Given the description of an element on the screen output the (x, y) to click on. 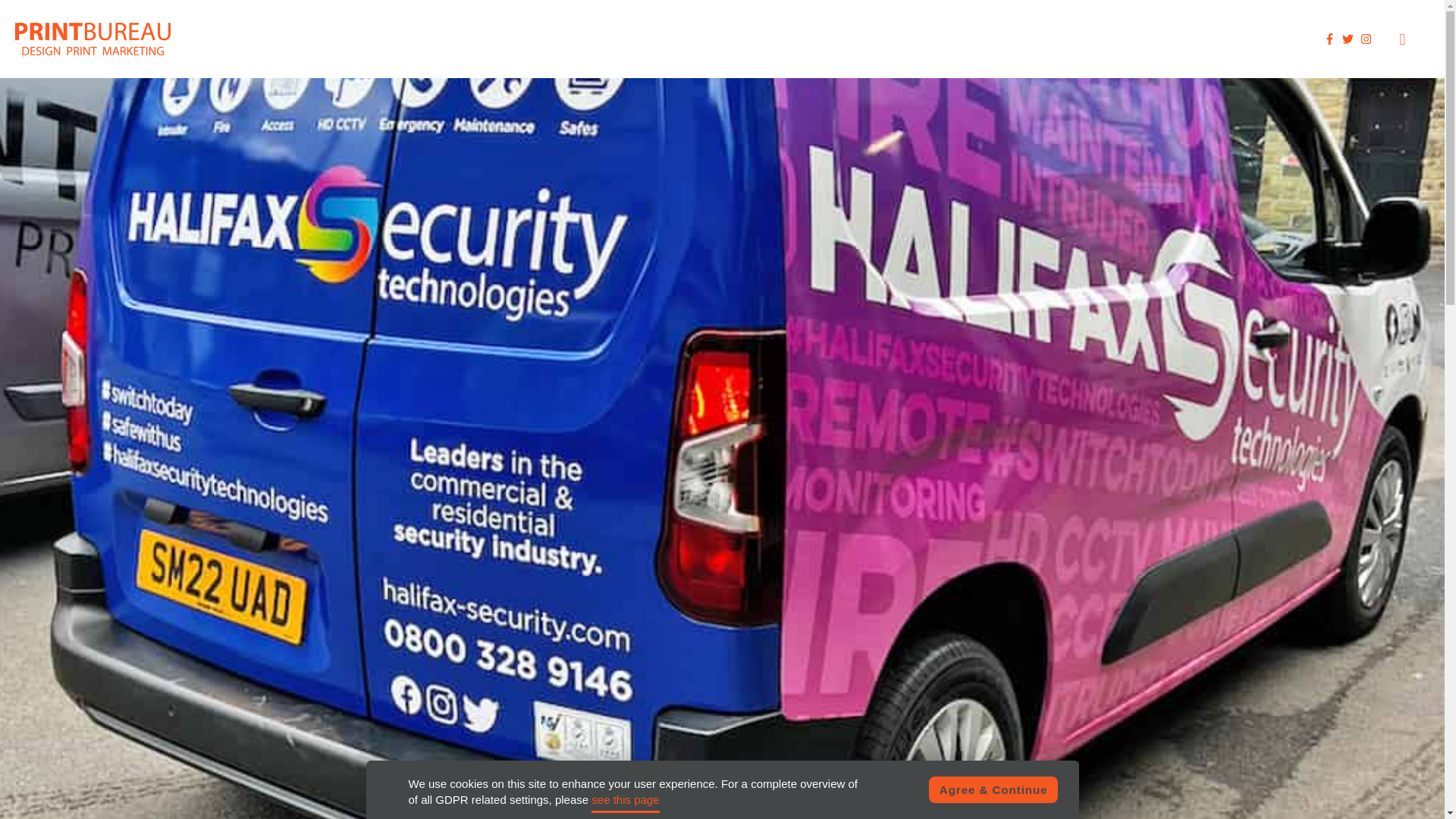
01422 847 799 (1257, 38)
Services (970, 38)
Price Guide (1046, 38)
